Given the description of an element on the screen output the (x, y) to click on. 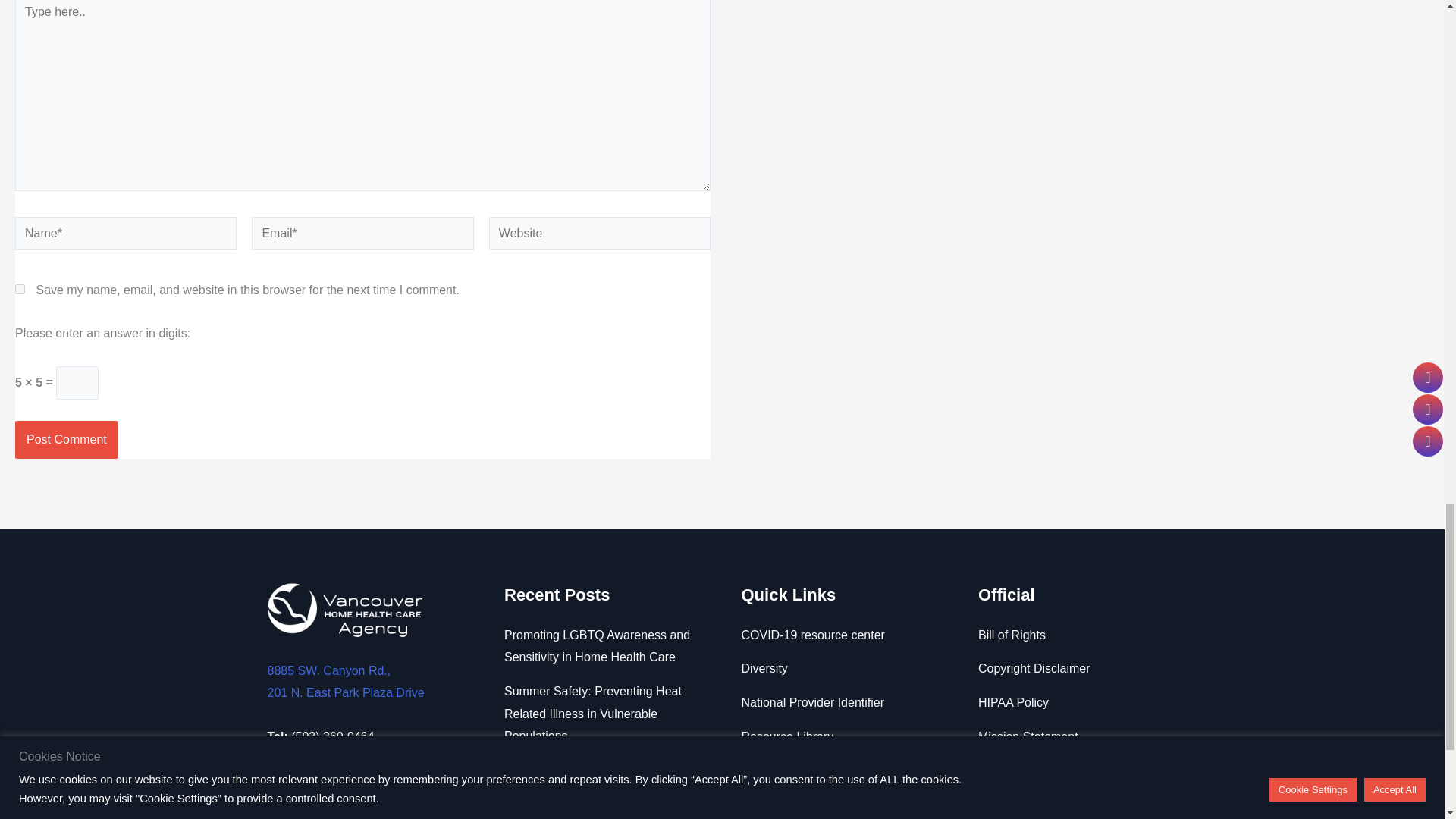
yes (19, 288)
Post Comment (65, 439)
